Given the description of an element on the screen output the (x, y) to click on. 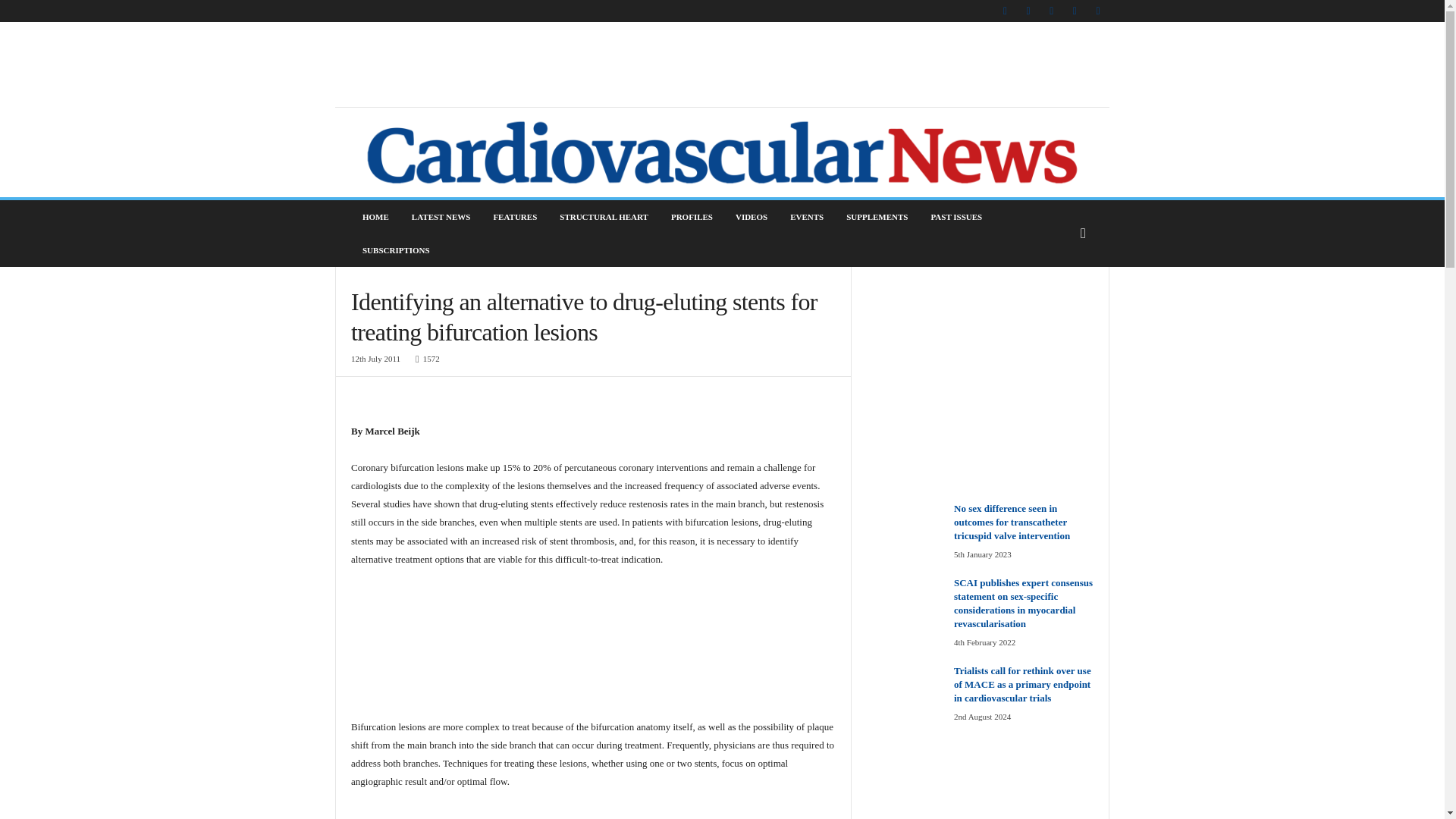
VIDEOS (750, 216)
FEATURES (514, 216)
SUPPLEMENTS (876, 216)
PROFILES (691, 216)
LATEST NEWS (440, 216)
PAST ISSUES (955, 216)
SUBSCRIPTIONS (395, 249)
EVENTS (806, 216)
STRUCTURAL HEART (603, 216)
HOME (375, 216)
